Given the description of an element on the screen output the (x, y) to click on. 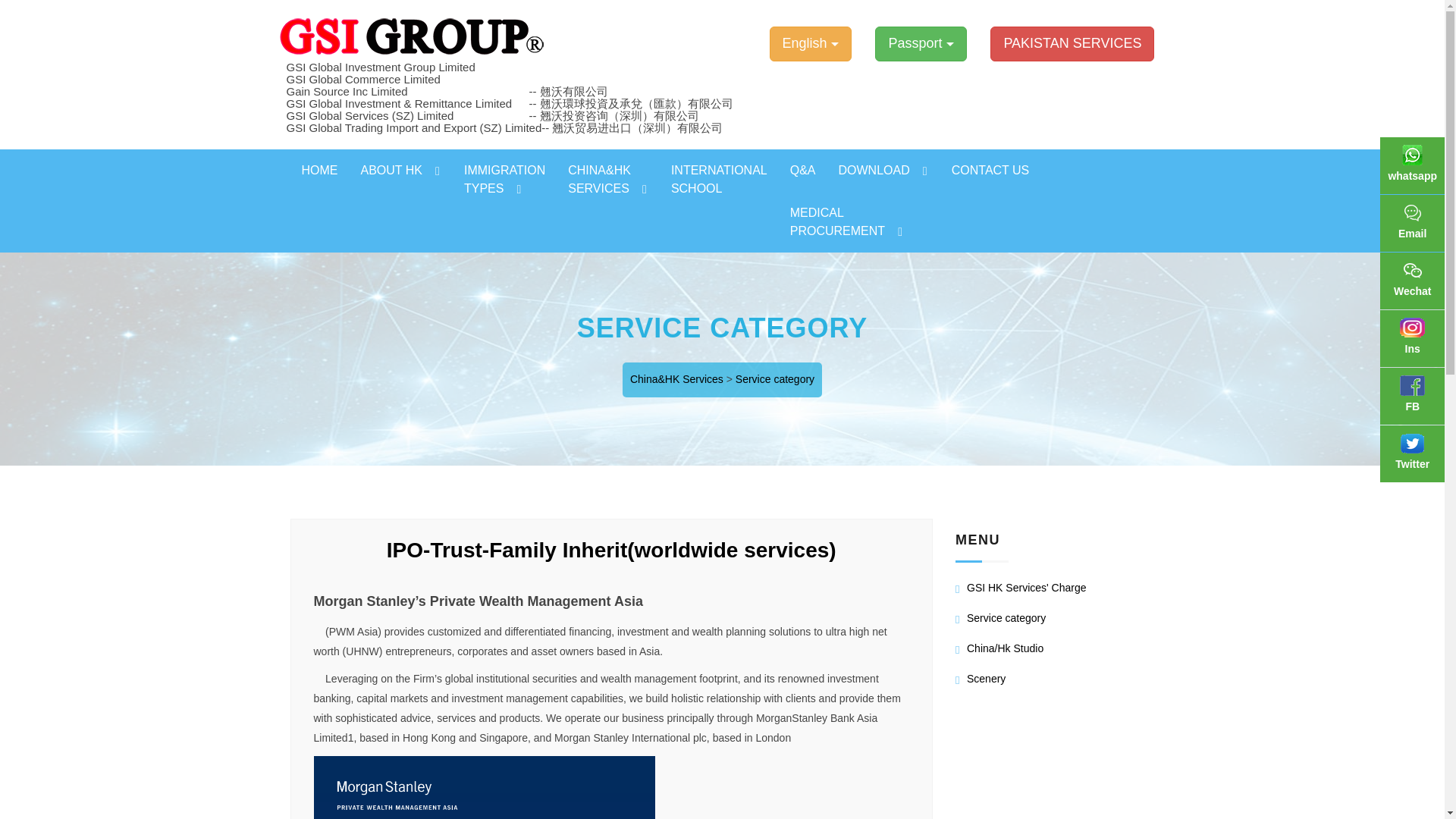
ABOUT HK (400, 170)
English (504, 179)
Gain Source Inc Limited (810, 43)
HOME (412, 35)
Passport (319, 170)
PAKISTAN SERVICES (920, 43)
